Given the description of an element on the screen output the (x, y) to click on. 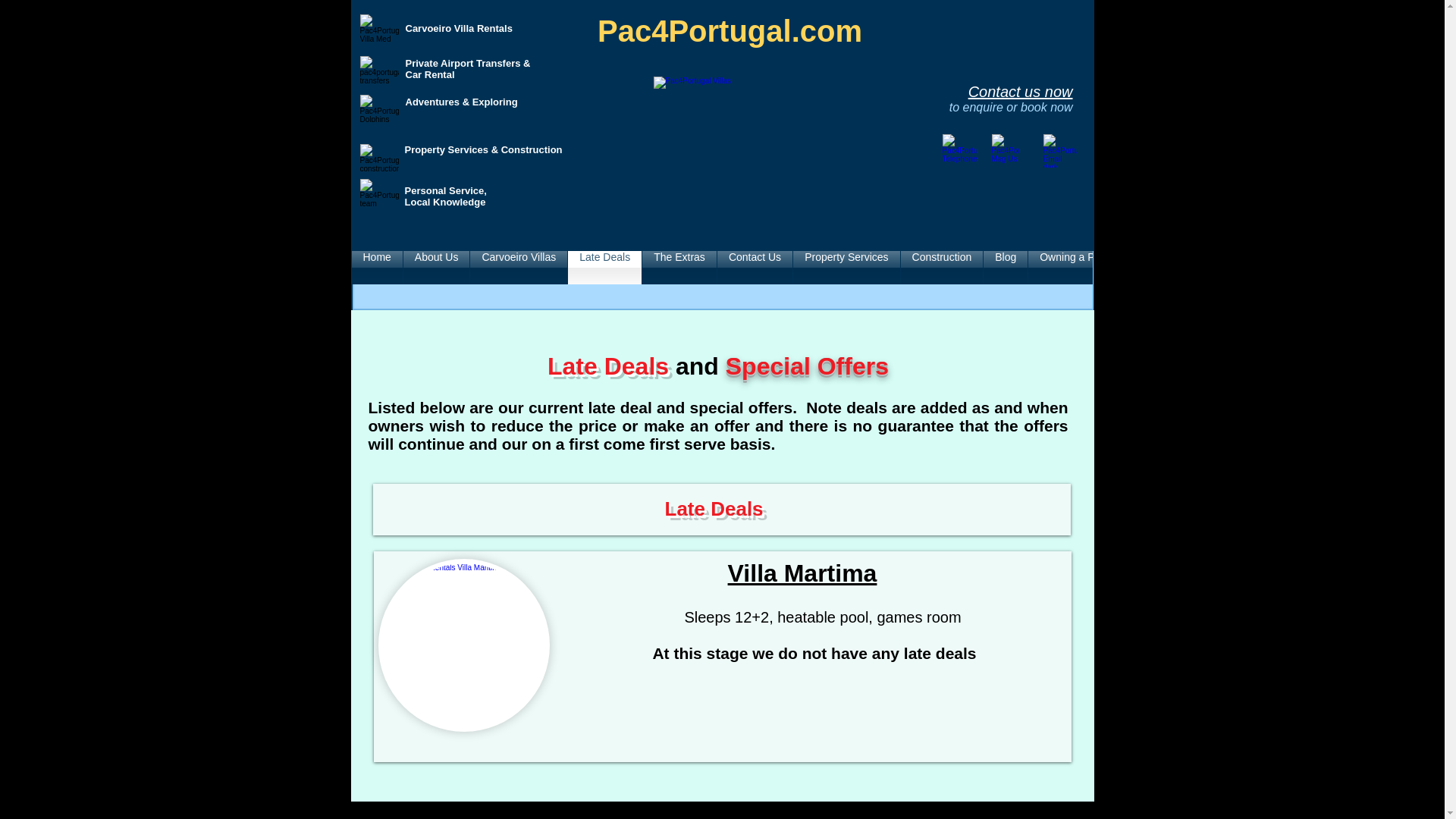
Carvoeiro Villas (518, 267)
Late Deals (604, 267)
Construction (942, 267)
About Us (436, 267)
Contact us now (1020, 91)
The Extras (679, 267)
Home (377, 267)
Contact Us (754, 267)
Property Services (846, 267)
